Given the description of an element on the screen output the (x, y) to click on. 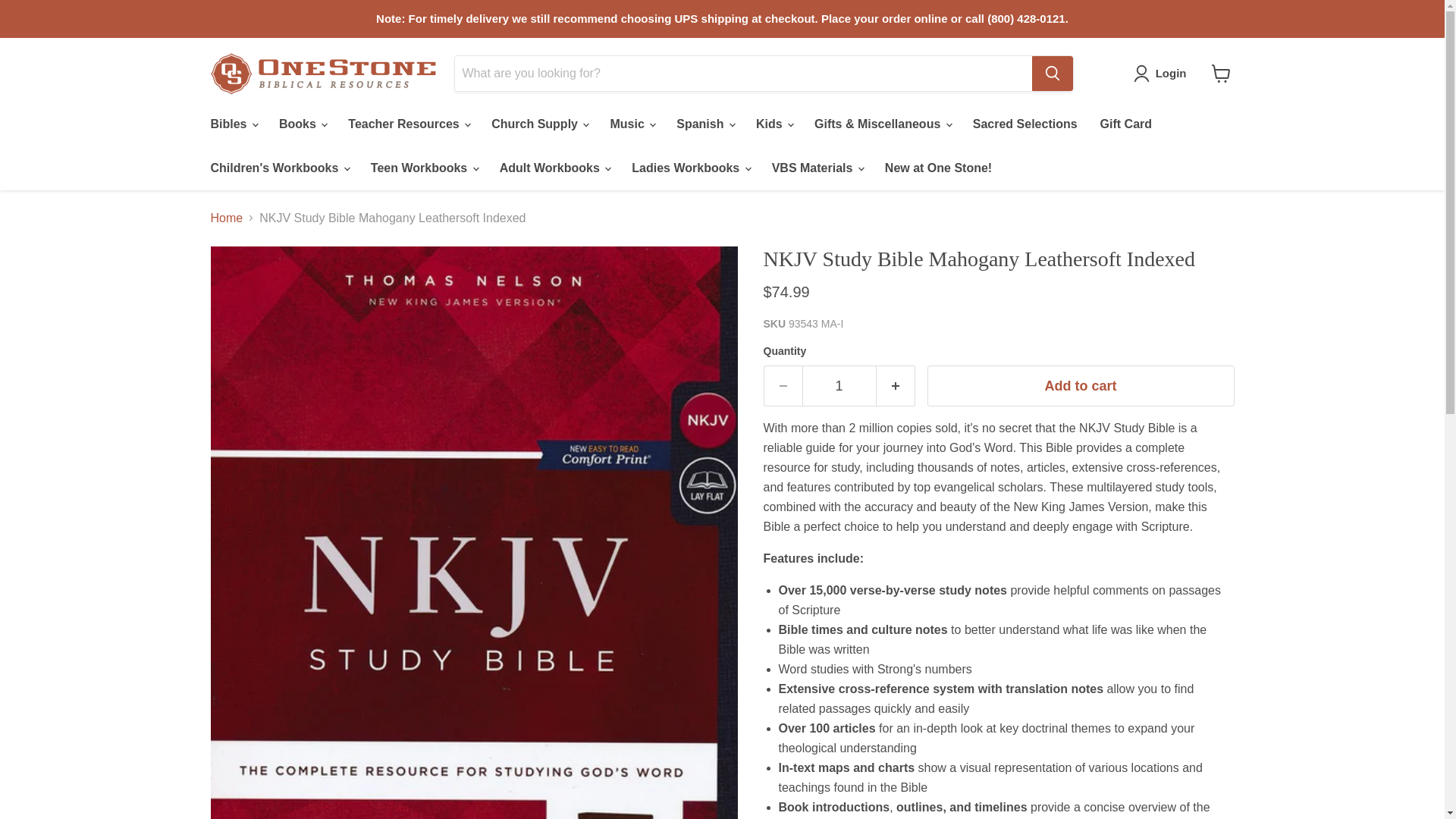
View cart (1221, 73)
1 (839, 386)
Login (1163, 73)
